Given the description of an element on the screen output the (x, y) to click on. 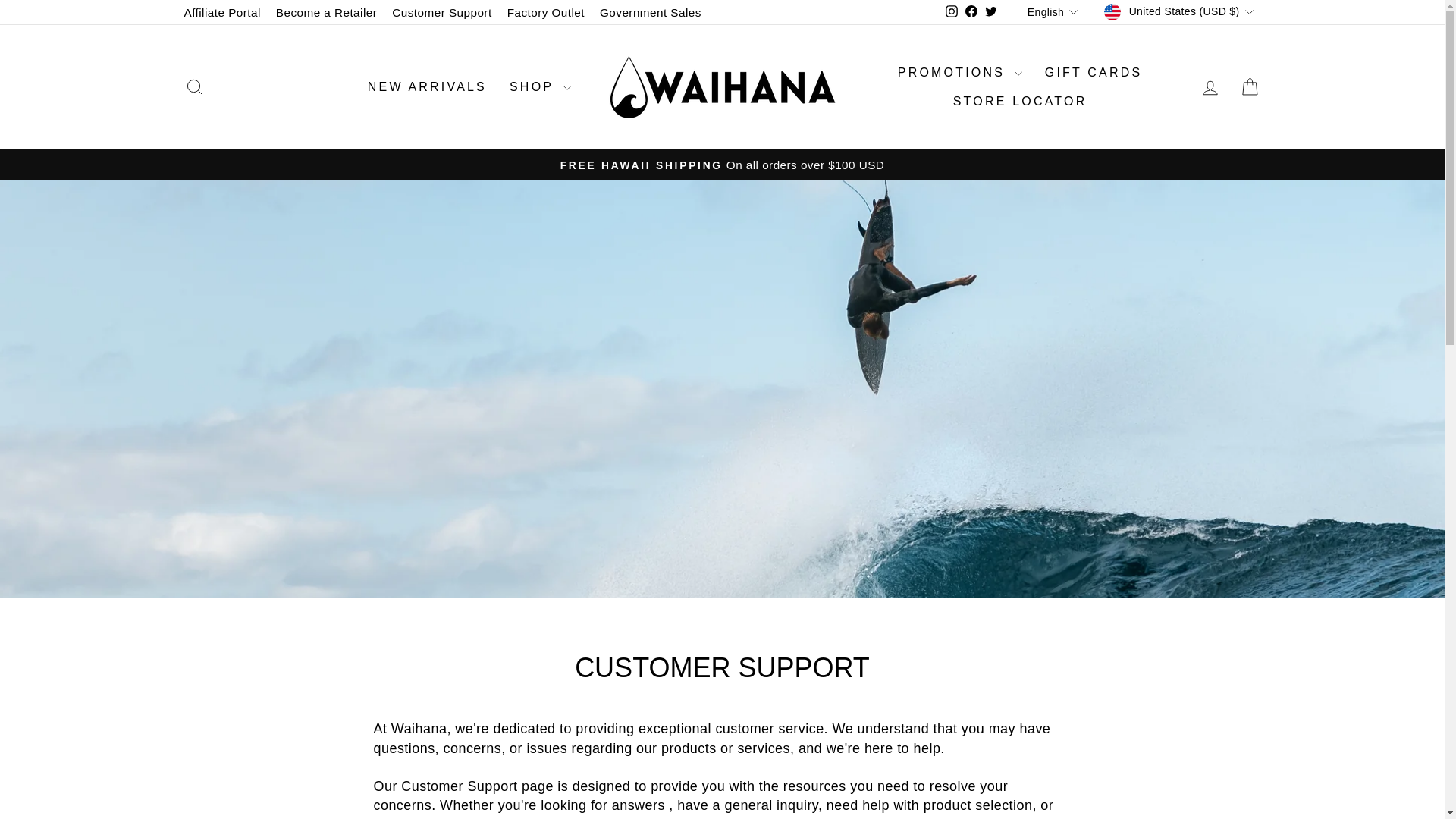
instagram (951, 10)
WAIHANA on Instagram (951, 11)
ACCOUNT (1210, 87)
ICON-SEARCH (194, 86)
WAIHANA on Twitter (991, 11)
twitter (991, 10)
WAIHANA on Facebook (970, 11)
